Given the description of an element on the screen output the (x, y) to click on. 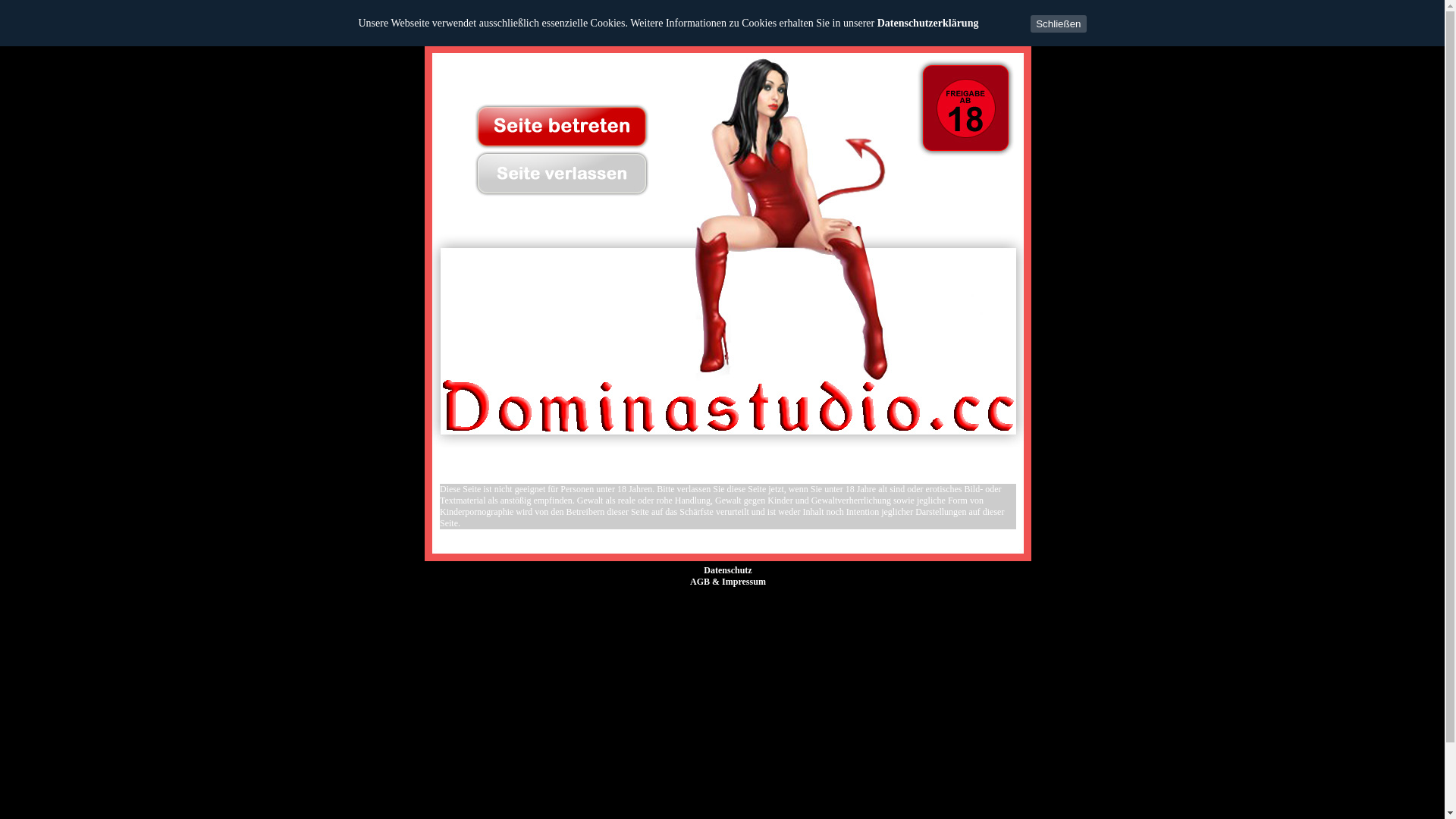
Log in Element type: text (429, 501)
Domenique Element type: text (711, 599)
Zum Profil ->> Element type: text (724, 379)
Registrieren Element type: text (430, 529)
  Element type: text (545, 163)
Jugendschutzprogramm Element type: hover (430, 575)
AGB & Impressum Element type: text (727, 581)
Samantha Element type: text (837, 761)
Top Domina Girls Element type: text (430, 278)
Petra Element type: text (994, 592)
Carmen Element type: text (553, 761)
Links Element type: text (430, 373)
  Element type: text (573, 163)
Domenique Element type: text (596, 761)
Laura Element type: text (938, 599)
  Element type: text (520, 163)
Impressum & AGB Element type: text (430, 335)
Julia Element type: text (660, 761)
Lena Element type: text (881, 599)
Betty Element type: text (958, 209)
Alle Girls sehen ->> Element type: text (825, 379)
Samantha Element type: text (653, 599)
  Element type: text (626, 163)
Home Element type: text (430, 241)
Valeria Element type: text (915, 761)
Petra Element type: text (773, 761)
Alle Domina Girls Element type: text (430, 260)
50
votes
    Element type: text (746, 209)
Renee Element type: text (800, 761)
Datenschutz Element type: text (727, 570)
Online Domina Girls Element type: text (430, 297)
Maggy Element type: text (744, 761)
Laura Element type: text (687, 761)
Svetlana Element type: text (824, 599)
Domina Bilder Element type: text (430, 316)
Lena Element type: text (714, 761)
  Element type: text (598, 163)
Passwort vergessen ? Element type: text (430, 541)
Carmen Element type: text (767, 595)
Betty Element type: text (597, 599)
Svetlana Element type: text (879, 761)
Janet Element type: text (635, 761)
Betty Element type: text (521, 761)
